Given the description of an element on the screen output the (x, y) to click on. 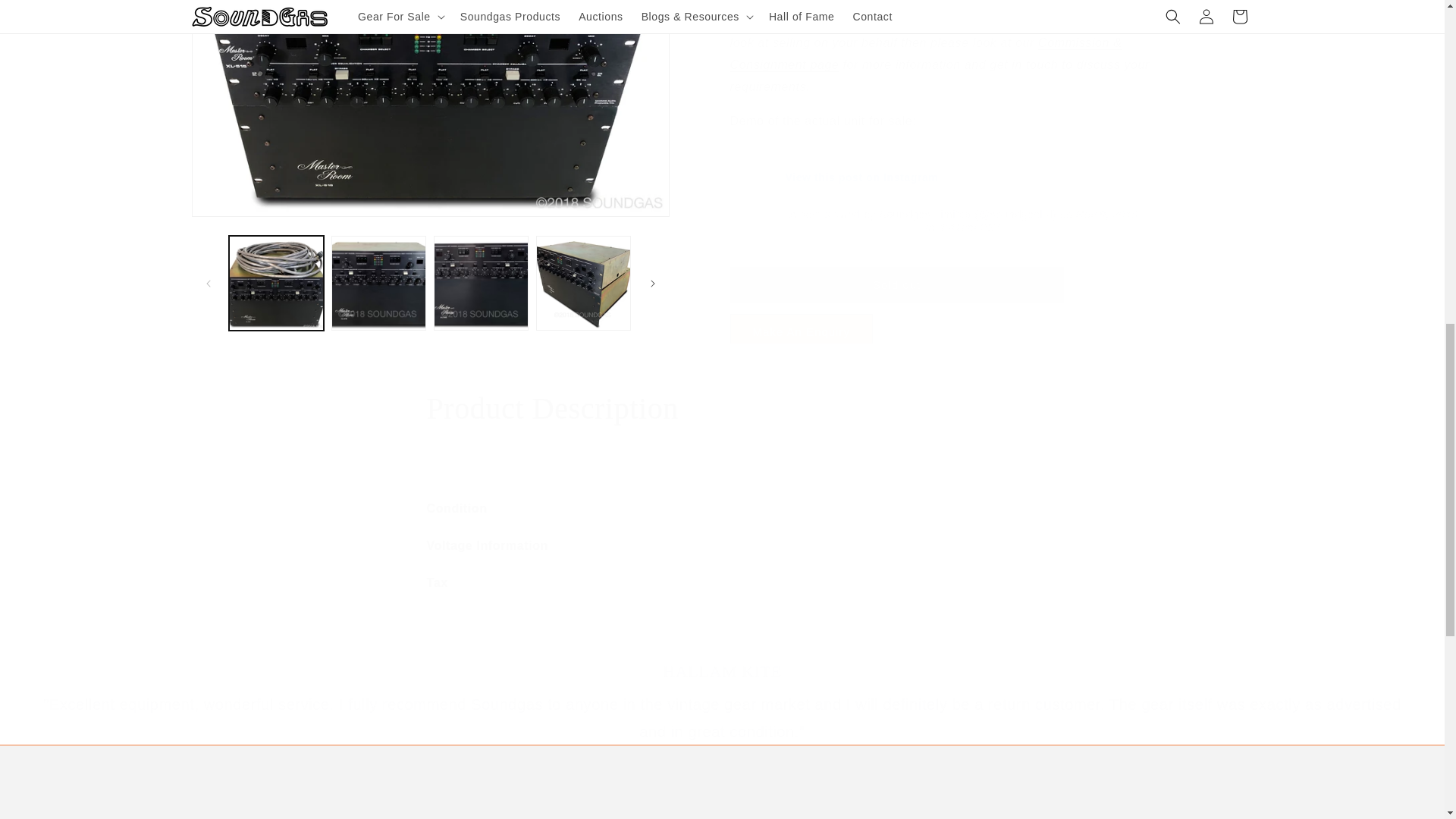
Voltage Information (721, 546)
Tax (721, 583)
Condition (721, 508)
Product Description (721, 408)
